Given the description of an element on the screen output the (x, y) to click on. 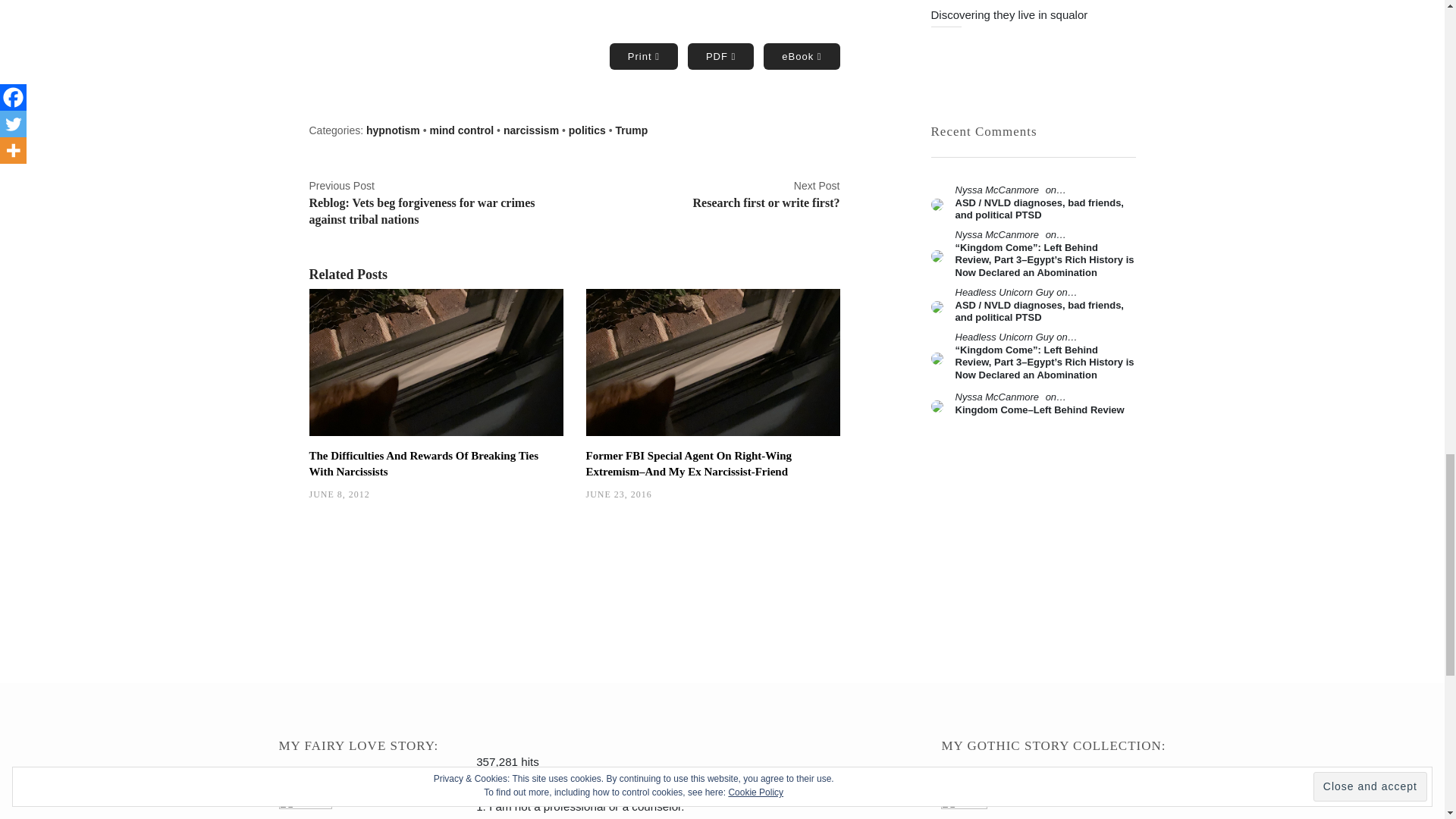
hypnotism (393, 130)
Trump (630, 130)
politics (587, 130)
narcissism (712, 195)
mind control (531, 130)
